Given the description of an element on the screen output the (x, y) to click on. 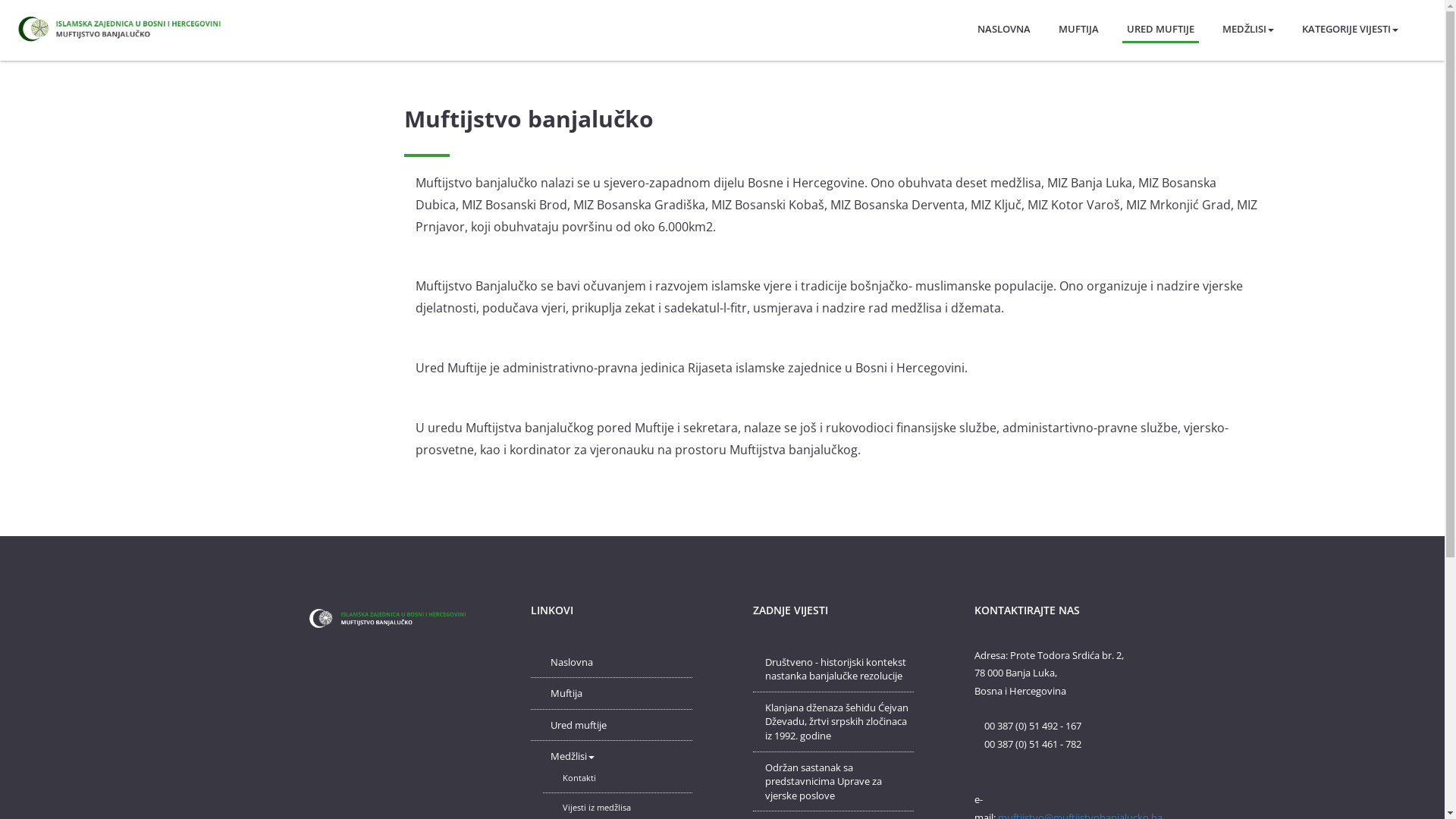
Muftija Element type: text (566, 692)
NASLOVNA Element type: text (1003, 24)
MUFTIJA Element type: text (1078, 24)
Kontakti Element type: text (579, 777)
KATEGORIJE VIJESTI Element type: text (1349, 24)
Naslovna Element type: text (571, 661)
URED MUFTIJE Element type: text (1160, 26)
Ured muftije Element type: text (578, 724)
